Given the description of an element on the screen output the (x, y) to click on. 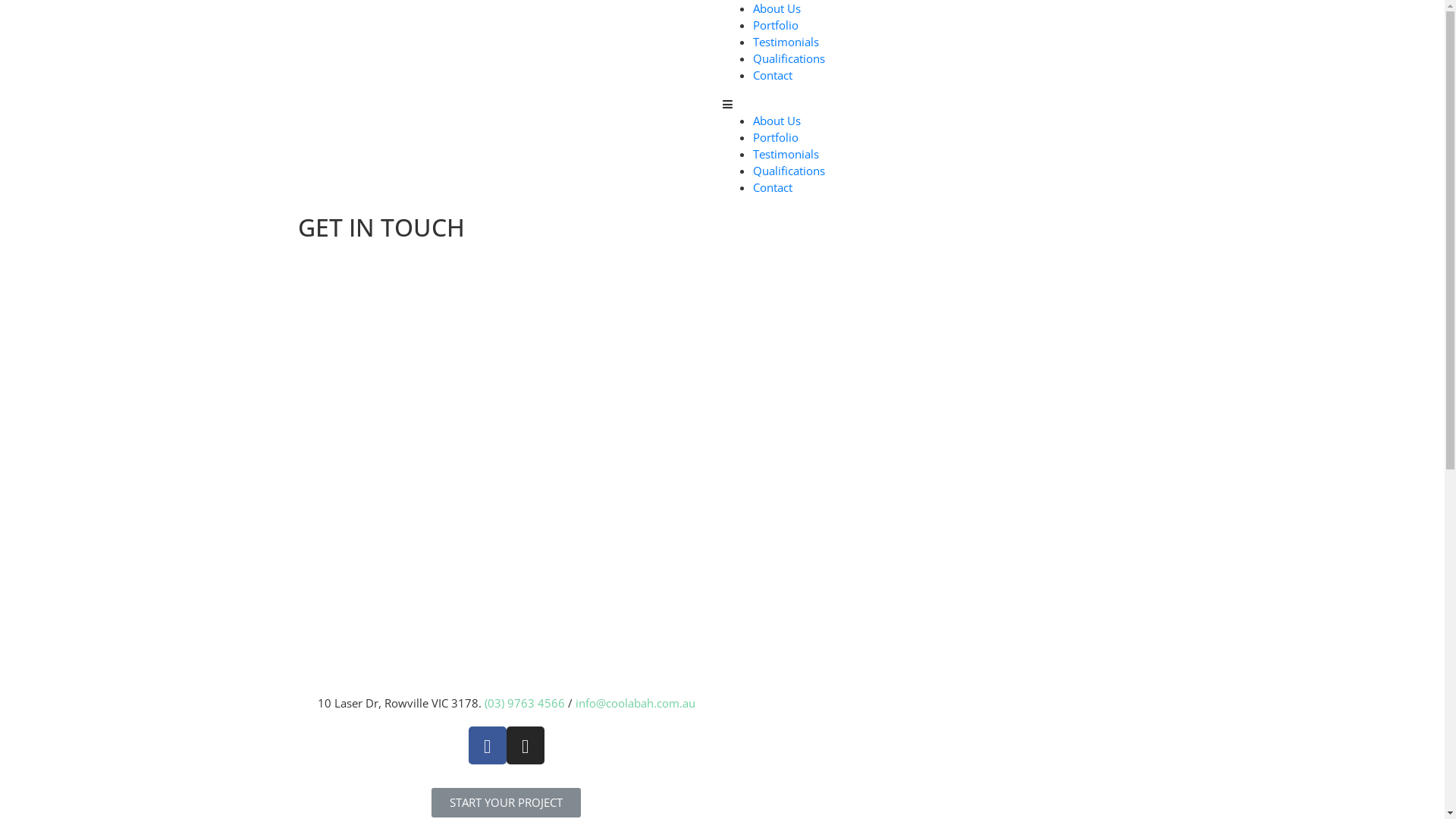
START YOUR PROJECT Element type: text (505, 802)
info@coolabah.com.au Element type: text (634, 702)
Portfolio Element type: text (774, 24)
Testimonials Element type: text (785, 153)
Portfolio Element type: text (774, 136)
(03) 9763 4566 Element type: text (523, 702)
Qualifications Element type: text (788, 170)
About Us Element type: text (776, 7)
About Us Element type: text (776, 120)
Testimonials Element type: text (785, 41)
Qualifications Element type: text (788, 57)
Contact Element type: text (771, 186)
Contact Element type: text (771, 74)
